Given the description of an element on the screen output the (x, y) to click on. 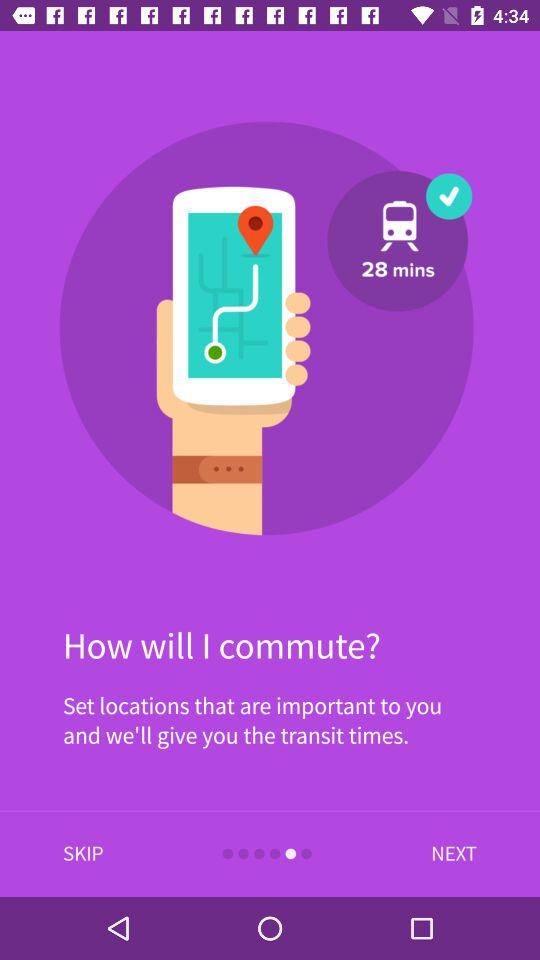
press the skip item (83, 853)
